Given the description of an element on the screen output the (x, y) to click on. 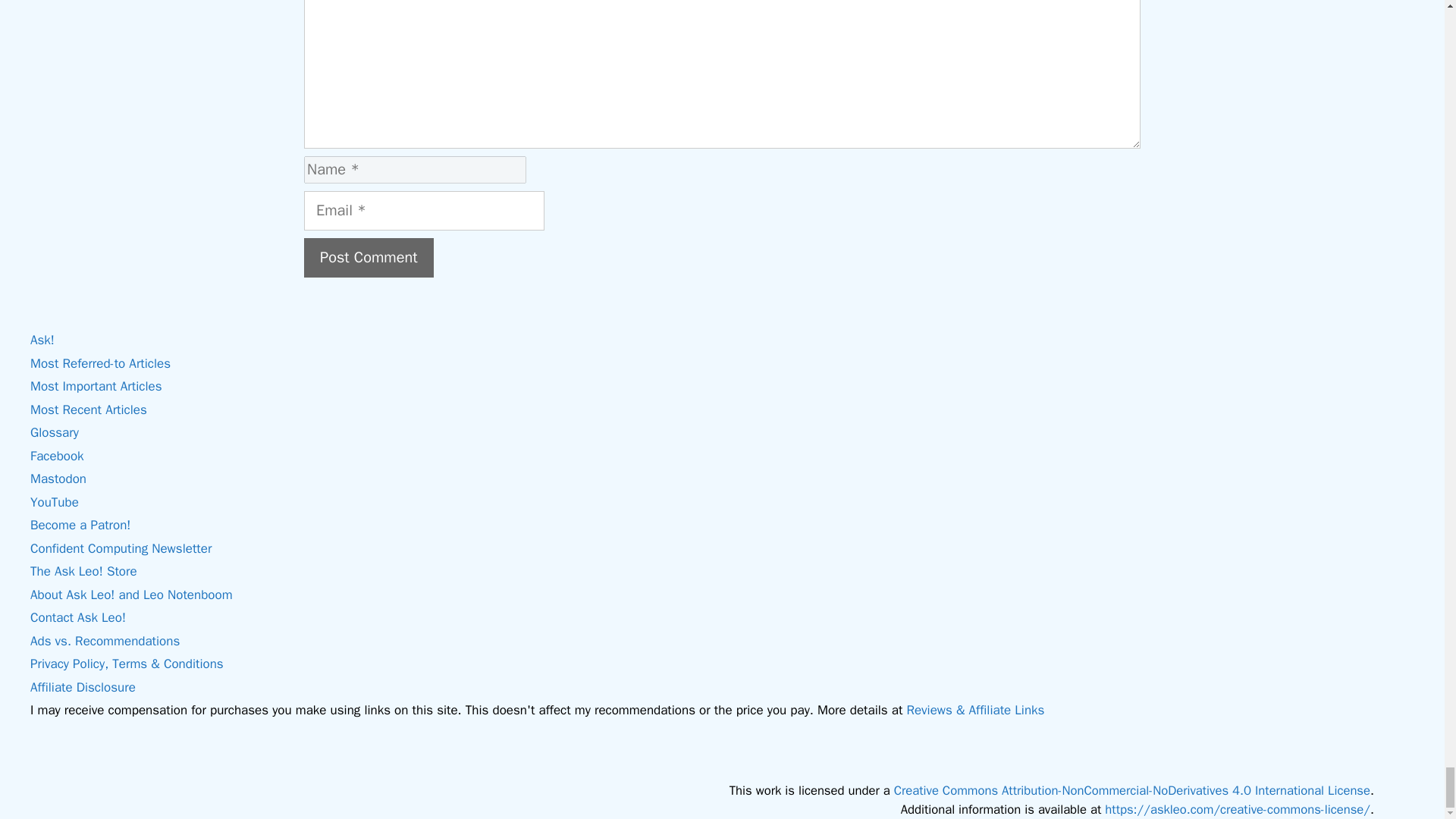
Post Comment (368, 257)
